Given the description of an element on the screen output the (x, y) to click on. 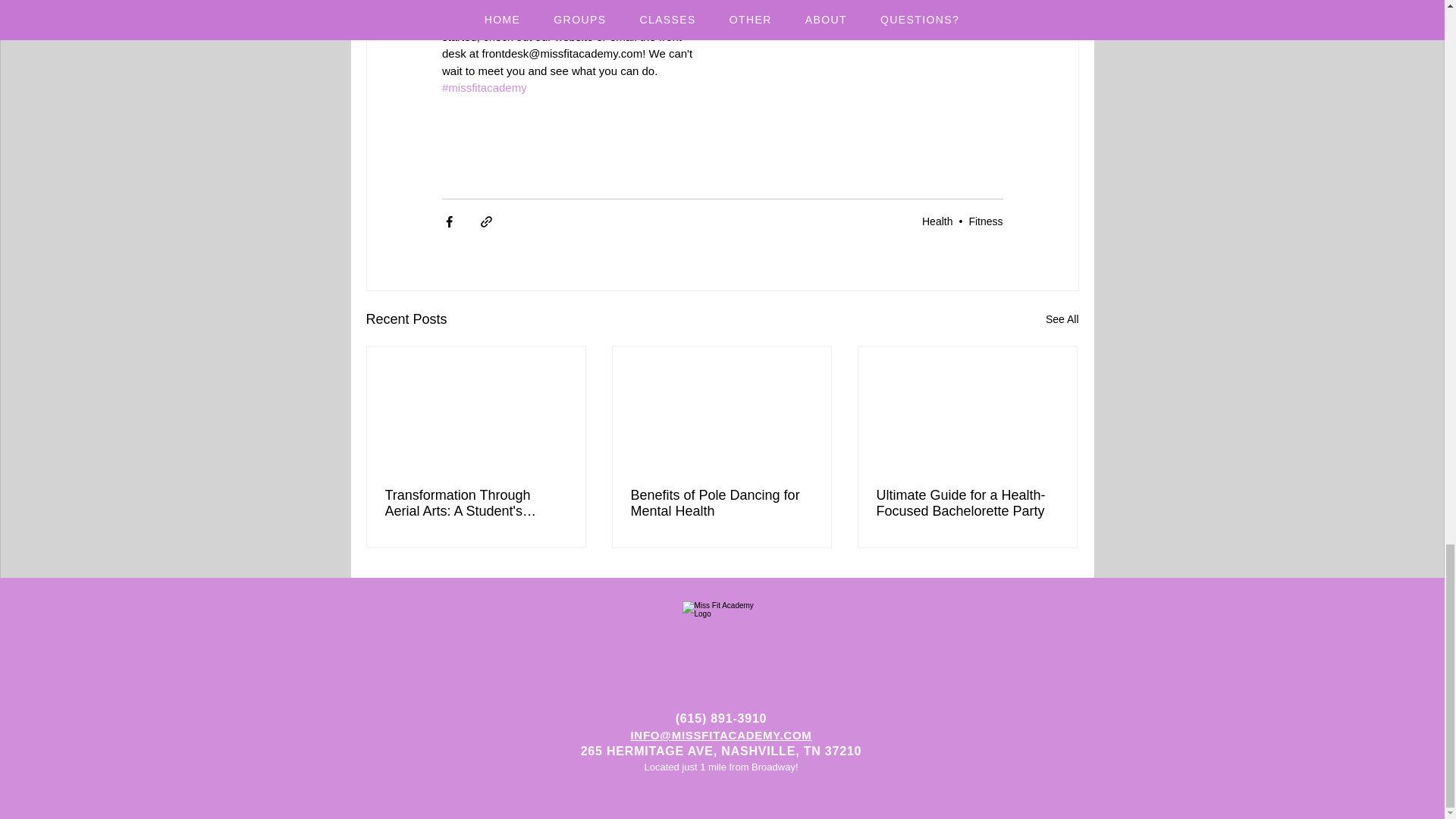
Health (936, 221)
